Given the description of an element on the screen output the (x, y) to click on. 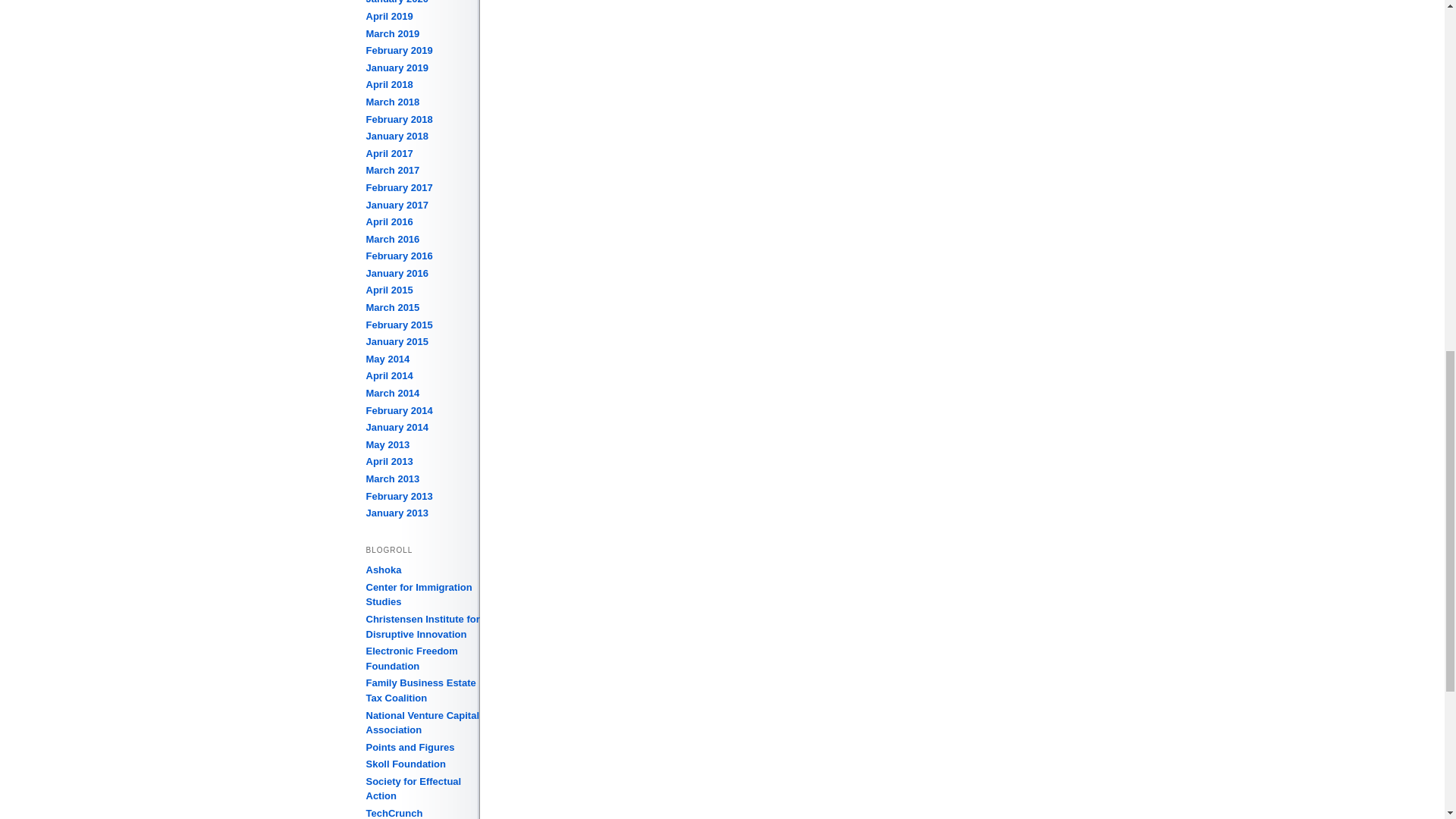
April 2019 (388, 16)
March 2019 (392, 33)
February 2018 (398, 119)
January 2020 (396, 2)
April 2018 (388, 84)
January 2019 (396, 67)
the latest technology news and information on startups (393, 813)
One of the premier sites for social entrepreneurship (383, 569)
February 2019 (398, 50)
March 2018 (392, 101)
January 2018 (396, 135)
